Given the description of an element on the screen output the (x, y) to click on. 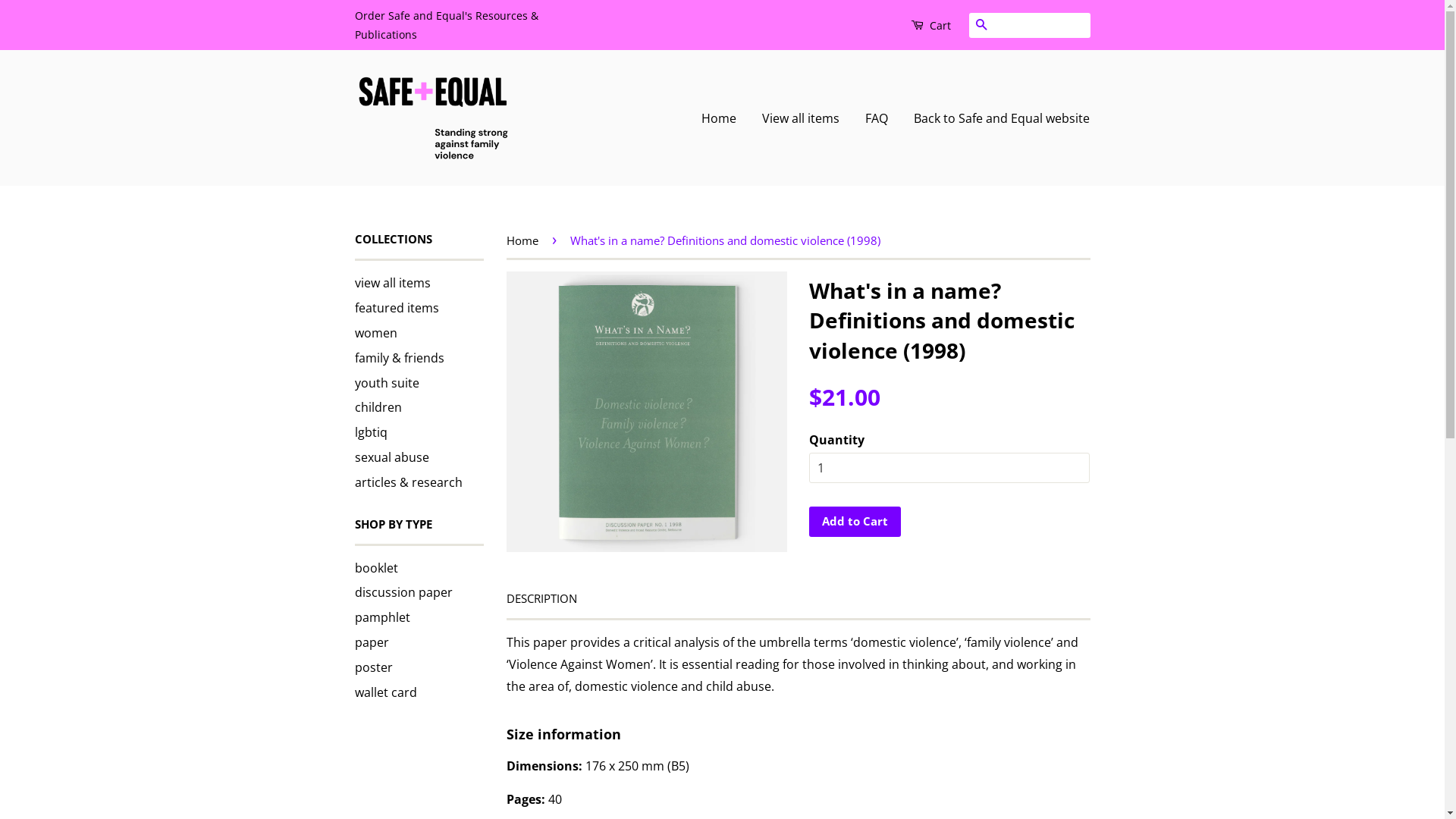
DESCRIPTION Element type: text (541, 598)
booklet Element type: text (376, 567)
youth suite Element type: text (386, 382)
family & friends Element type: text (399, 357)
FAQ Element type: text (876, 118)
Home Element type: text (524, 239)
Home Element type: text (724, 118)
view all items Element type: text (392, 282)
View all items Element type: text (800, 118)
discussion paper Element type: text (403, 591)
featured items Element type: text (396, 307)
Cart Element type: text (930, 24)
lgbtiq Element type: text (370, 431)
poster Element type: text (373, 666)
women Element type: text (375, 332)
Back to Safe and Equal website Element type: text (995, 118)
children Element type: text (377, 406)
Add to Cart Element type: text (854, 521)
articles & research Element type: text (408, 481)
wallet card Element type: text (385, 692)
pamphlet Element type: text (382, 616)
paper Element type: text (371, 641)
sexual abuse Element type: text (391, 456)
Search Element type: text (981, 24)
